Given the description of an element on the screen output the (x, y) to click on. 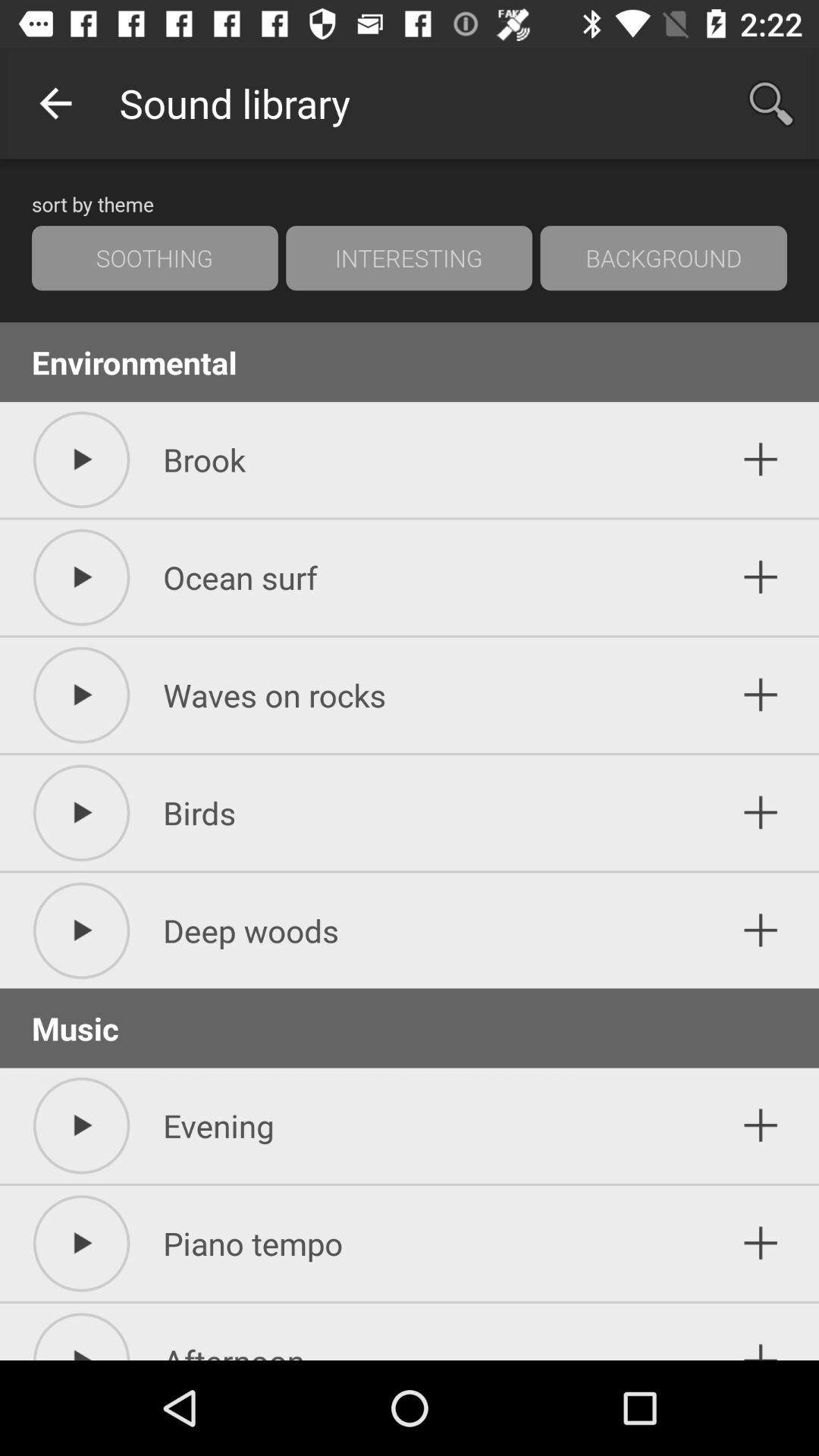
add to playlist (761, 1335)
